Given the description of an element on the screen output the (x, y) to click on. 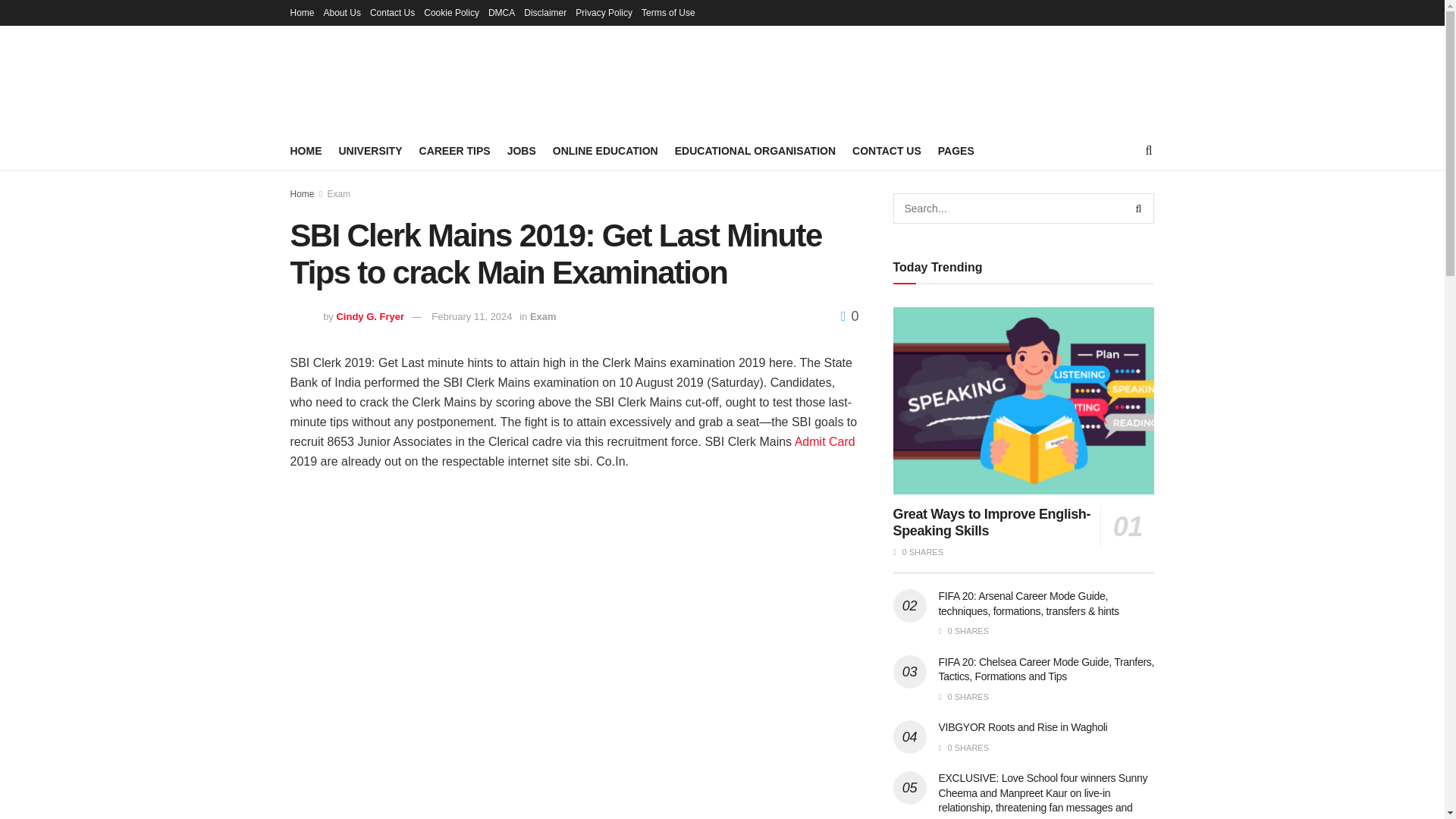
PAGES (955, 150)
Cookie Policy (451, 12)
EDUCATIONAL ORGANISATION (755, 150)
CONTACT US (886, 150)
CAREER TIPS (454, 150)
Disclaimer (545, 12)
Terms of Use (668, 12)
DMCA (501, 12)
Contact Us (391, 12)
Great Ways to Improve English-Speaking Skills 3 (1023, 400)
Home (301, 12)
About Us (342, 12)
JOBS (520, 150)
Privacy Policy (603, 12)
